Given the description of an element on the screen output the (x, y) to click on. 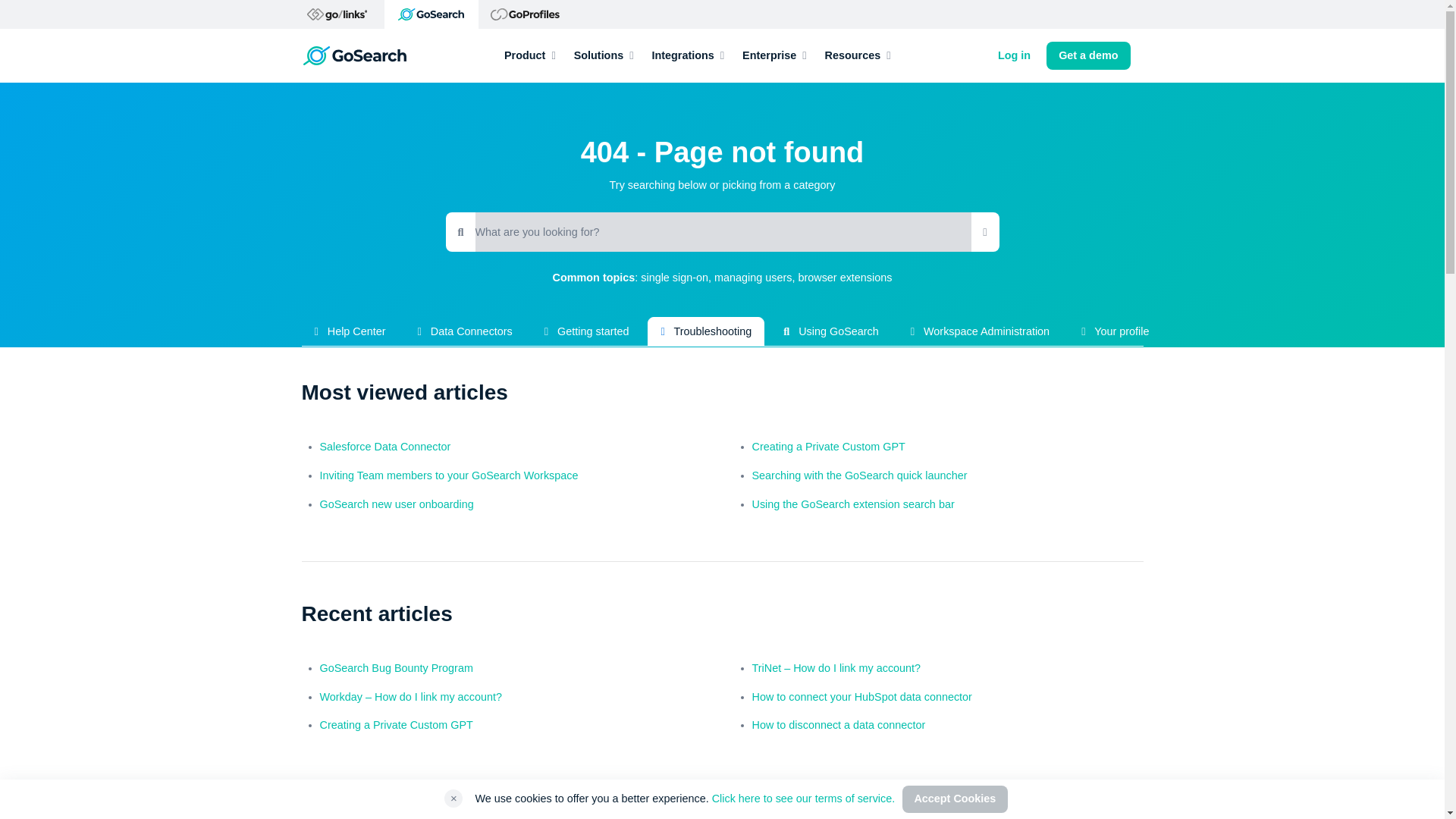
Log in (1013, 55)
Integrations (686, 55)
Click here to see our terms of service. (803, 798)
Solutions (603, 55)
Product (529, 55)
Enterprise (774, 55)
Accept Cookies (954, 799)
Get a demo (1087, 55)
Resources (858, 55)
